Given the description of an element on the screen output the (x, y) to click on. 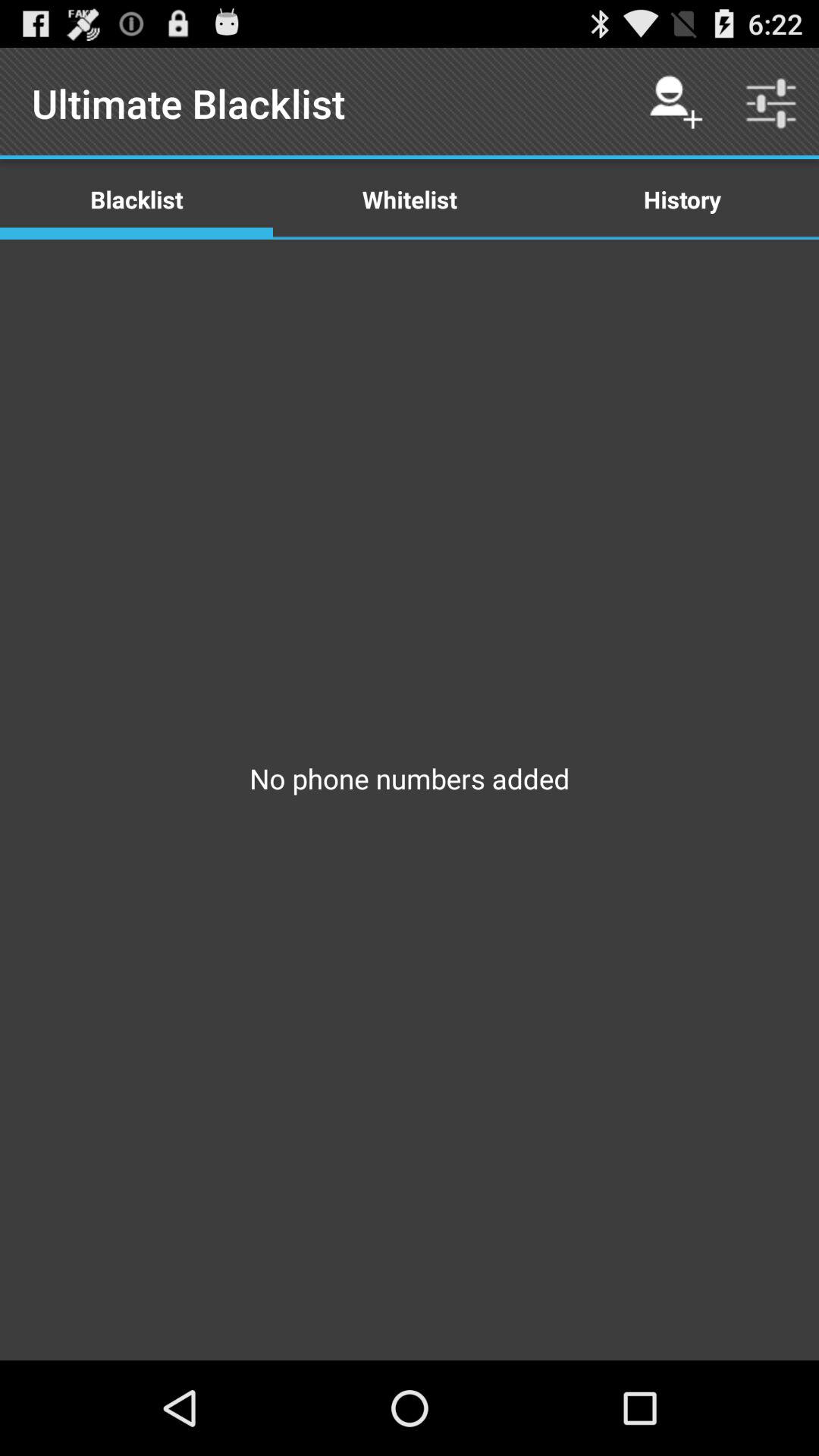
turn off whitelist (409, 199)
